Given the description of an element on the screen output the (x, y) to click on. 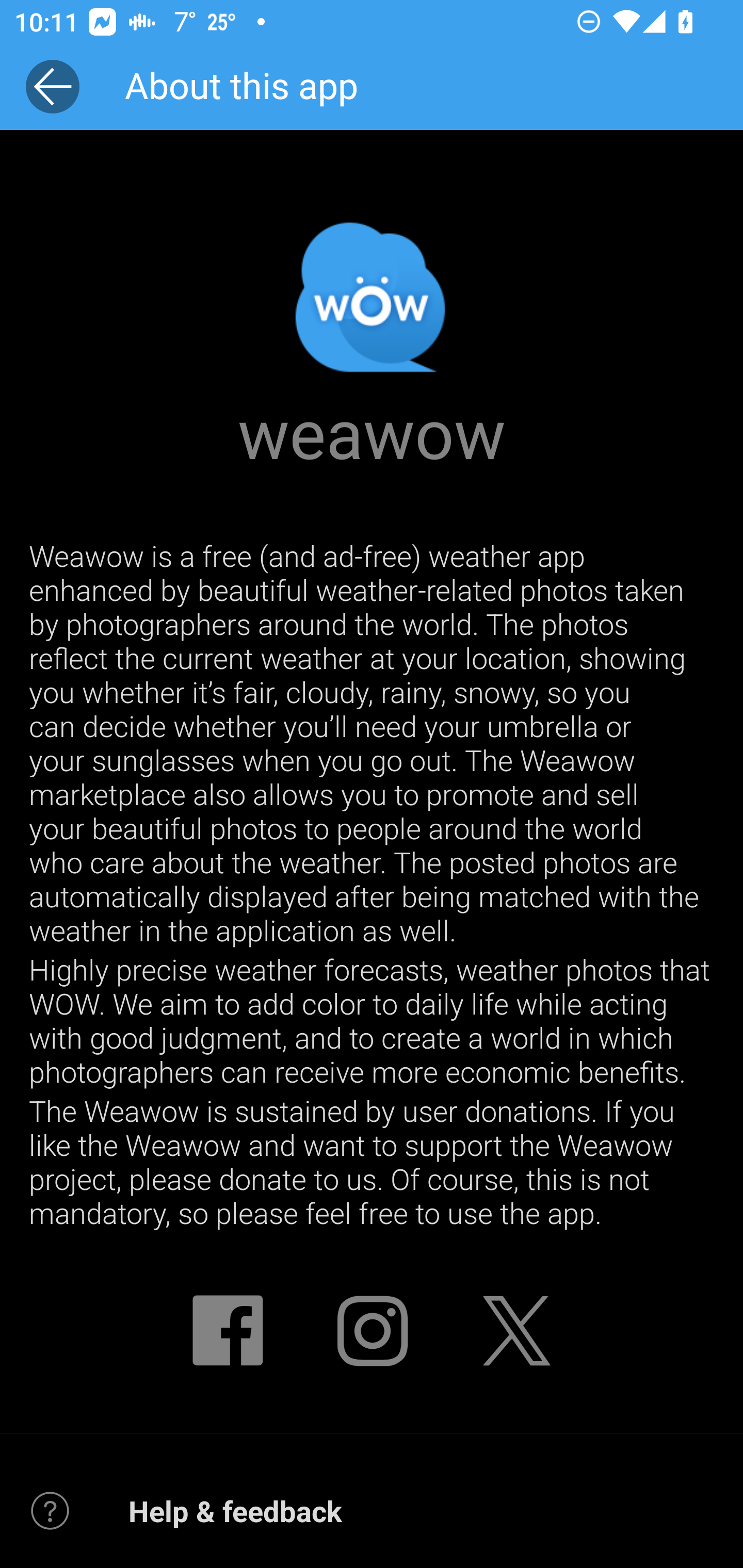
 (226, 1332)
 (371, 1332)
 (515, 1332)
 Help & feedback (371, 1510)
